Given the description of an element on the screen output the (x, y) to click on. 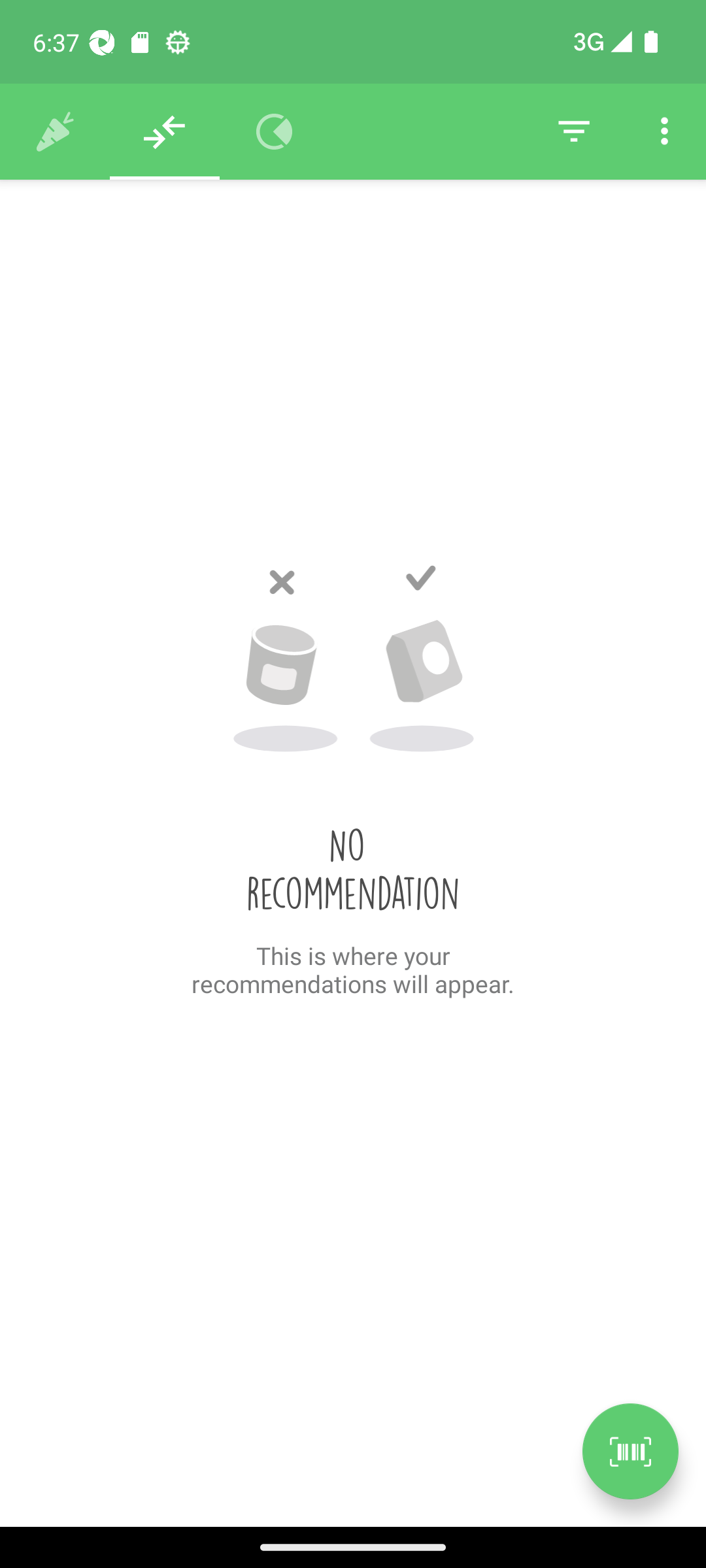
History (55, 131)
Overview (274, 131)
Filter (573, 131)
Settings (664, 131)
Scan a product (630, 1451)
